Given the description of an element on the screen output the (x, y) to click on. 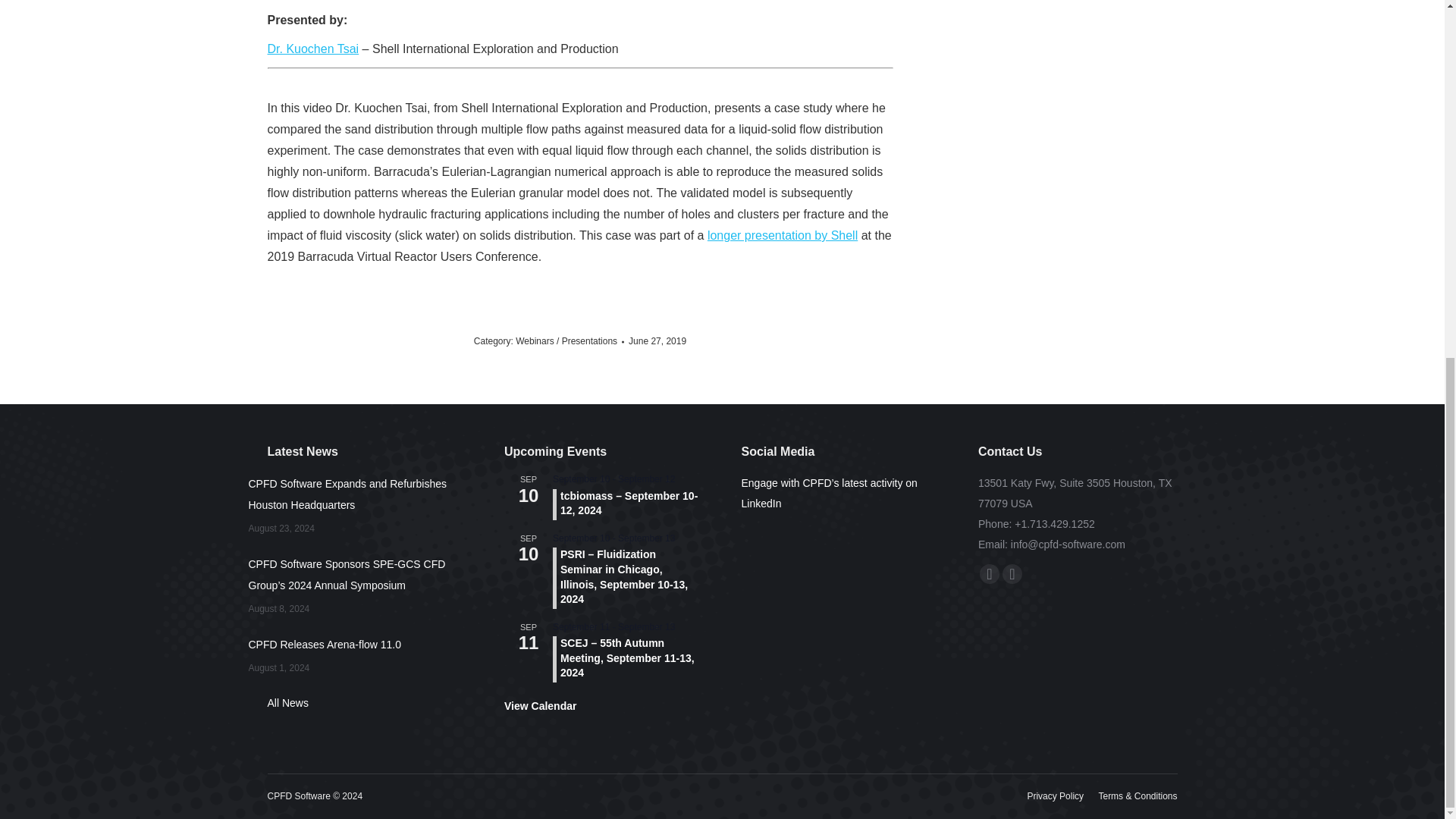
Linkedin page opens in new window (1012, 573)
YouTube page opens in new window (988, 573)
12:44 pm (656, 341)
View more events. (539, 706)
